Given the description of an element on the screen output the (x, y) to click on. 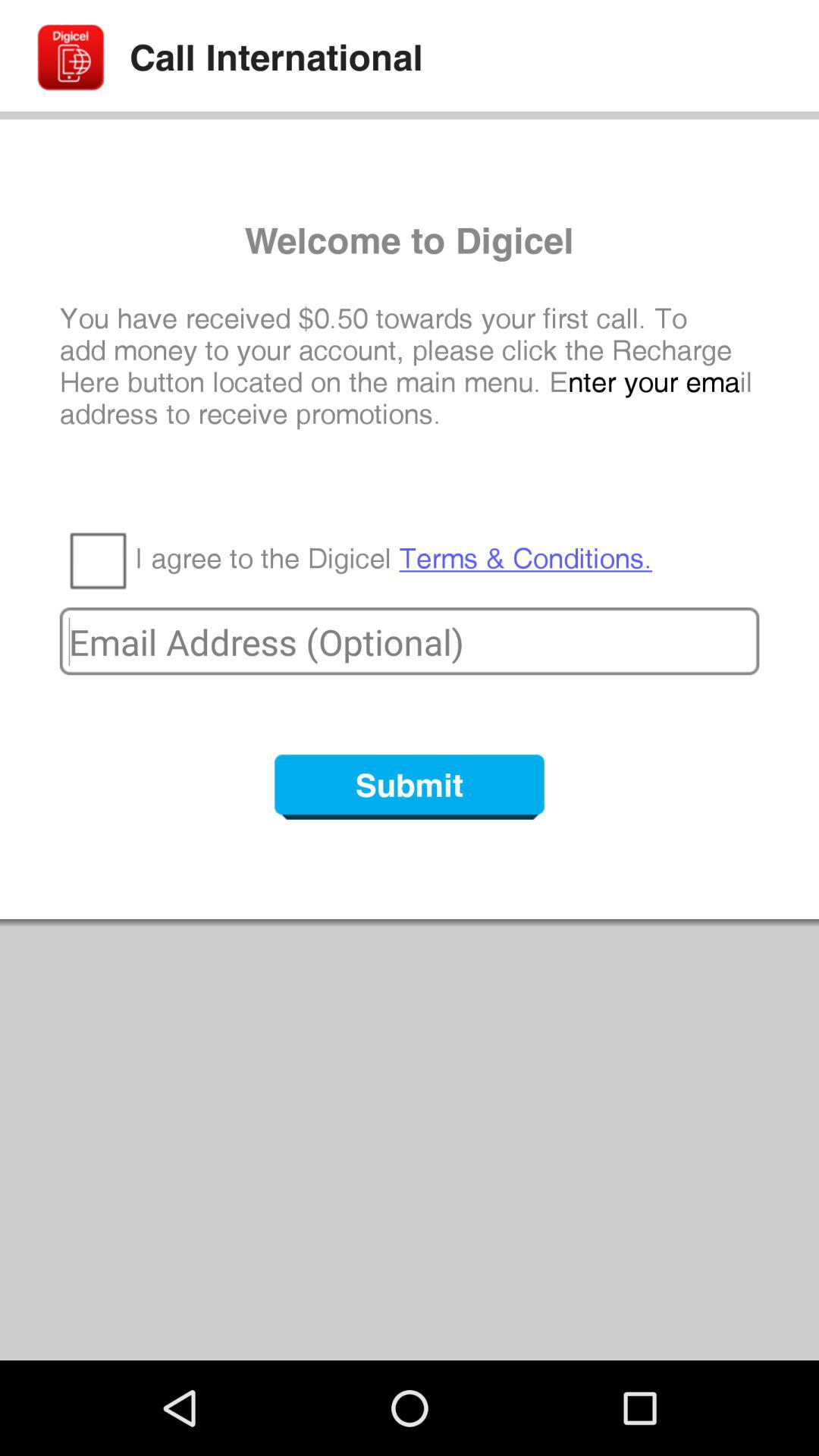
open the icon on the left (97, 559)
